Given the description of an element on the screen output the (x, y) to click on. 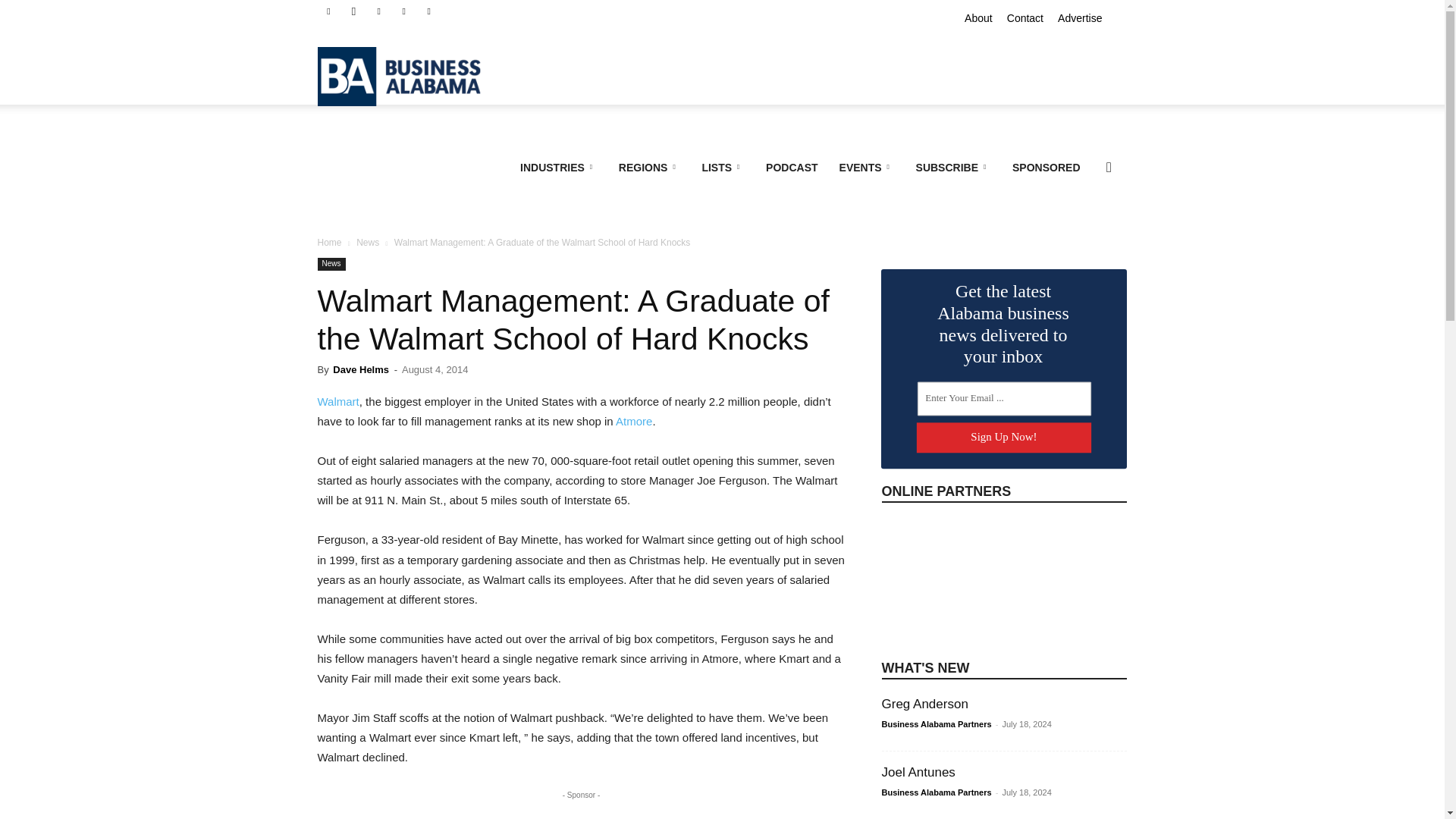
Instagram (353, 10)
Facebook (328, 10)
View all posts in News (367, 242)
Twitter (429, 10)
Spotify (403, 10)
Business Alabama Magazine (406, 76)
Linkedin (379, 10)
